Given the description of an element on the screen output the (x, y) to click on. 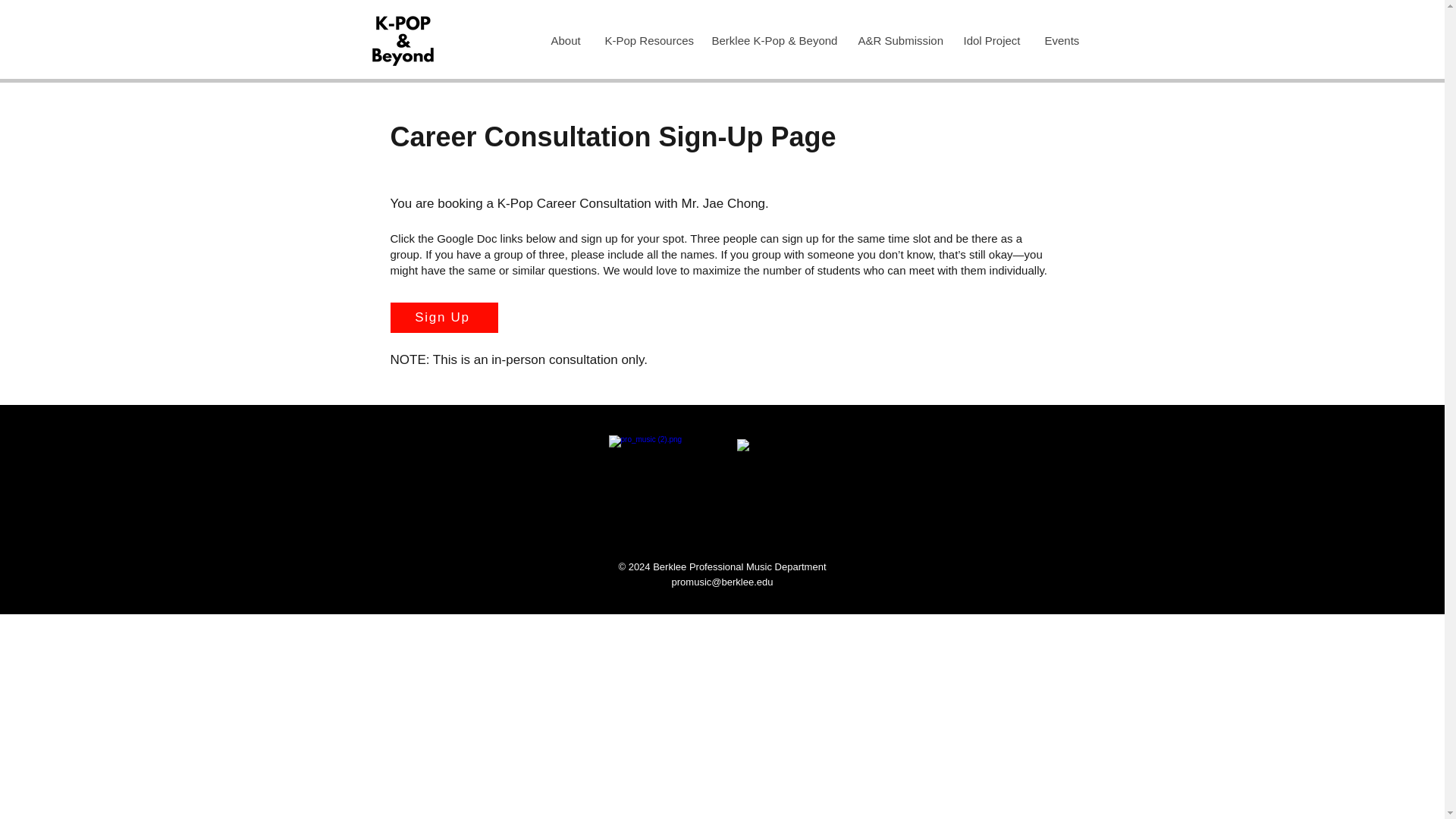
Sign Up (443, 317)
K-Pop Resources (646, 40)
About (567, 40)
